Given the description of an element on the screen output the (x, y) to click on. 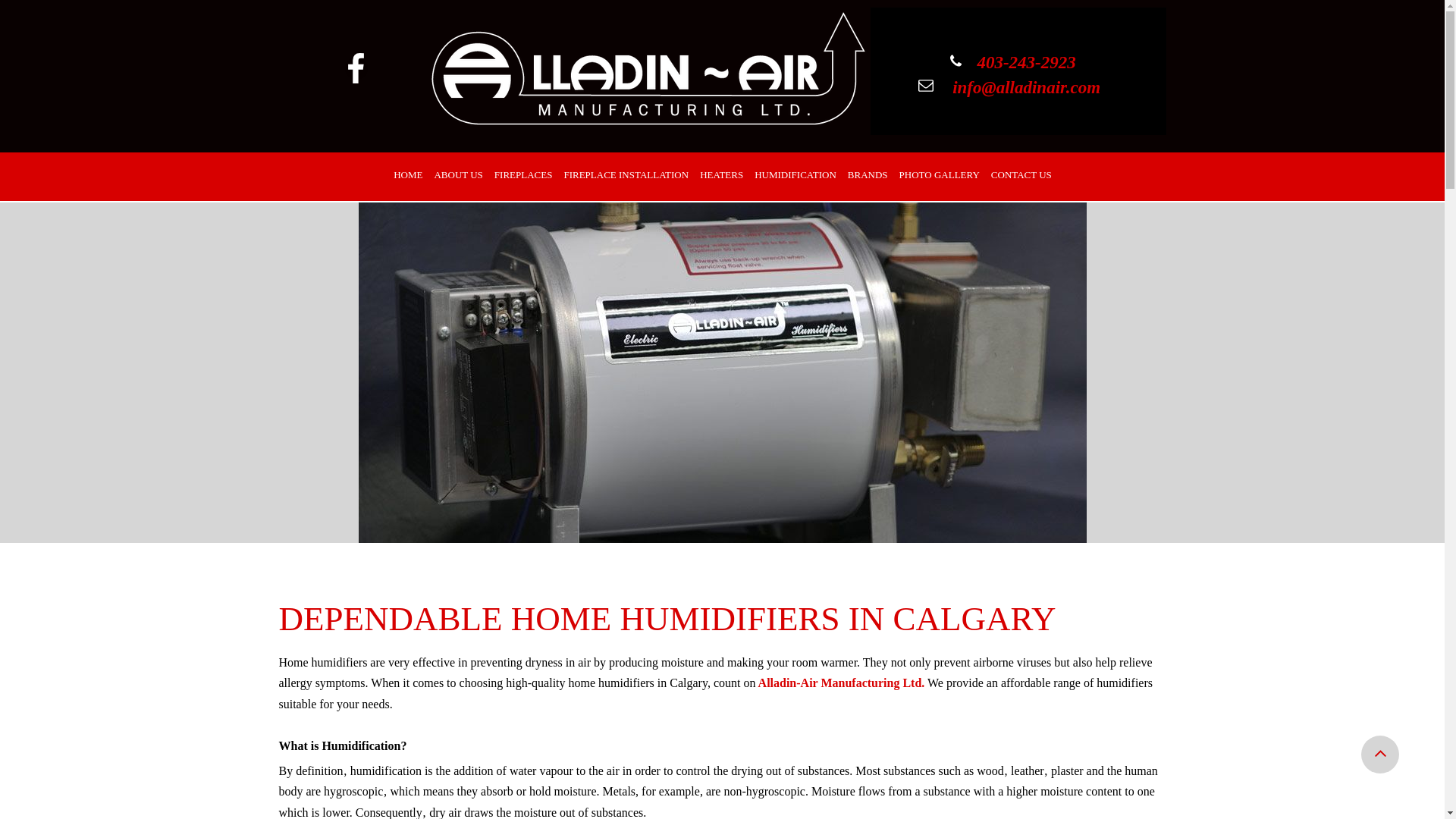
CONTACT US (1019, 176)
HOME (405, 176)
FIREPLACES (521, 176)
ABOUT US (456, 176)
FIREPLACE INSTALLATION (624, 176)
Alladin-Air Manufacturing Ltd. (839, 682)
403-243-2923 (1023, 65)
PHOTO GALLERY (937, 176)
